Given the description of an element on the screen output the (x, y) to click on. 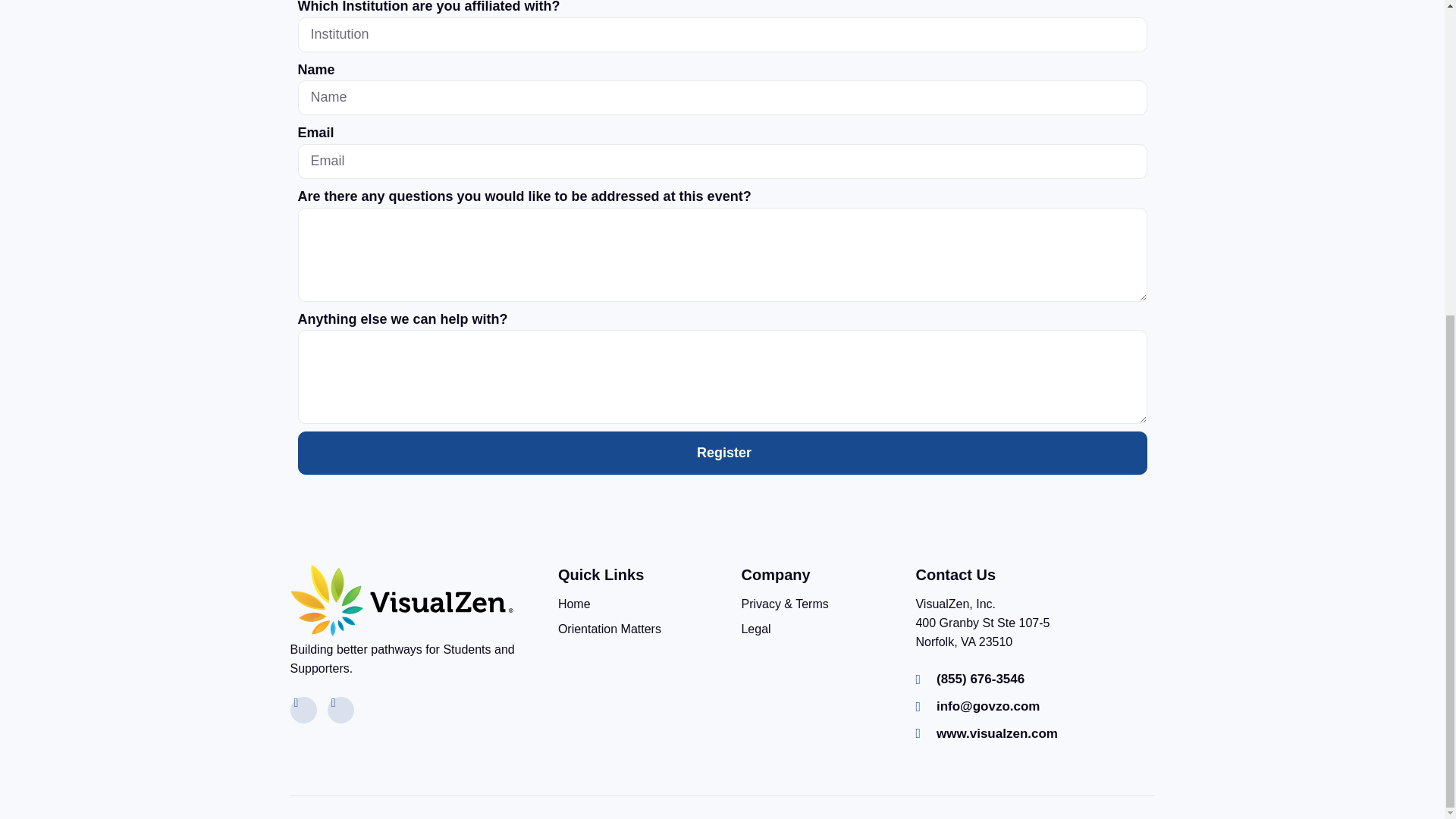
Legal (755, 629)
Home (574, 604)
Register (722, 453)
Orientation Matters (609, 629)
www.visualzen.com (986, 733)
